Given the description of an element on the screen output the (x, y) to click on. 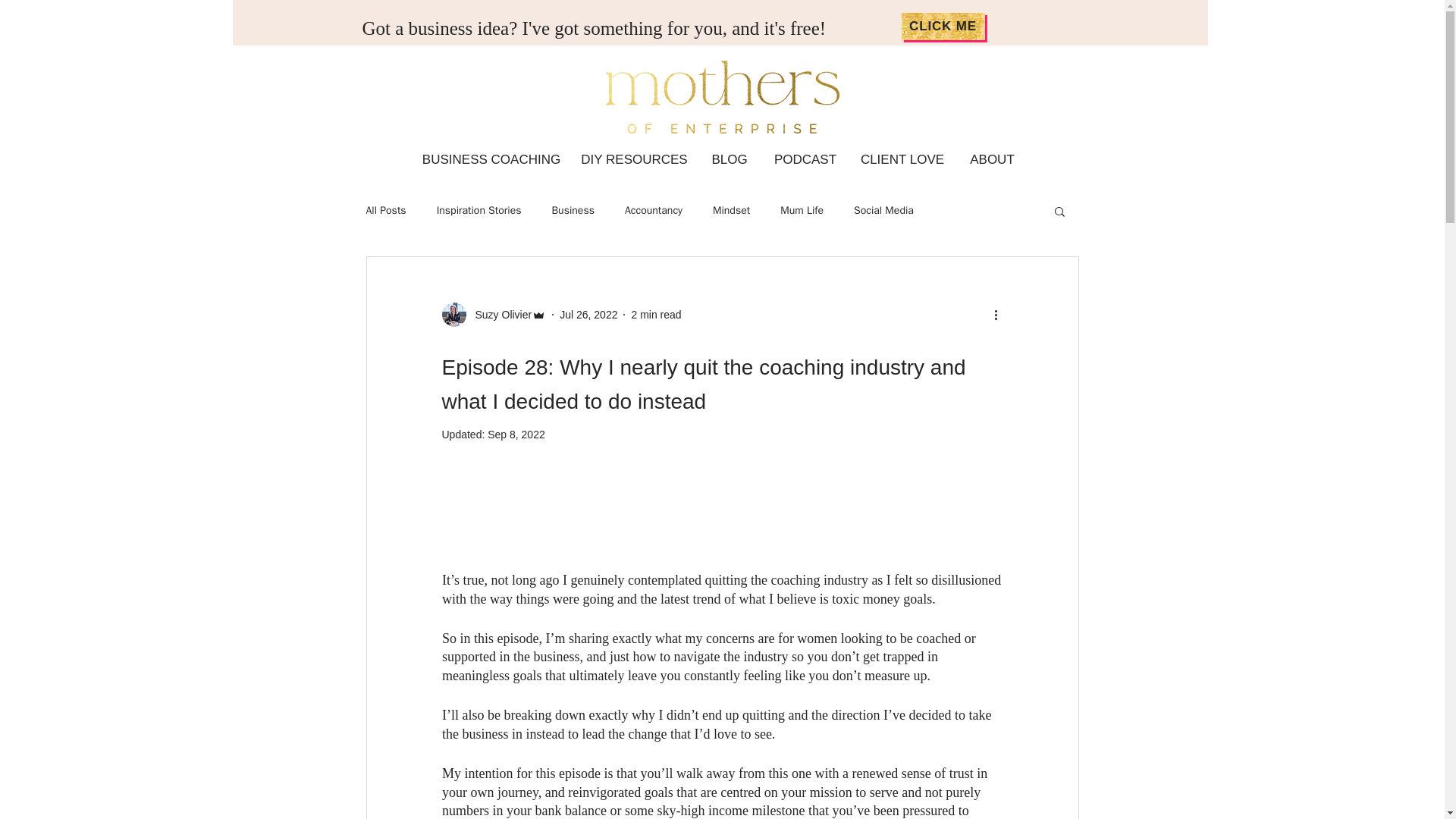
Accountancy (653, 210)
CLICK ME (942, 26)
Business (572, 210)
BUSINESS COACHING (490, 159)
Mindset (731, 210)
All Posts (385, 210)
Sep 8, 2022 (515, 434)
Suzy Olivier (498, 314)
Jul 26, 2022 (588, 313)
Social Media (883, 210)
